Given the description of an element on the screen output the (x, y) to click on. 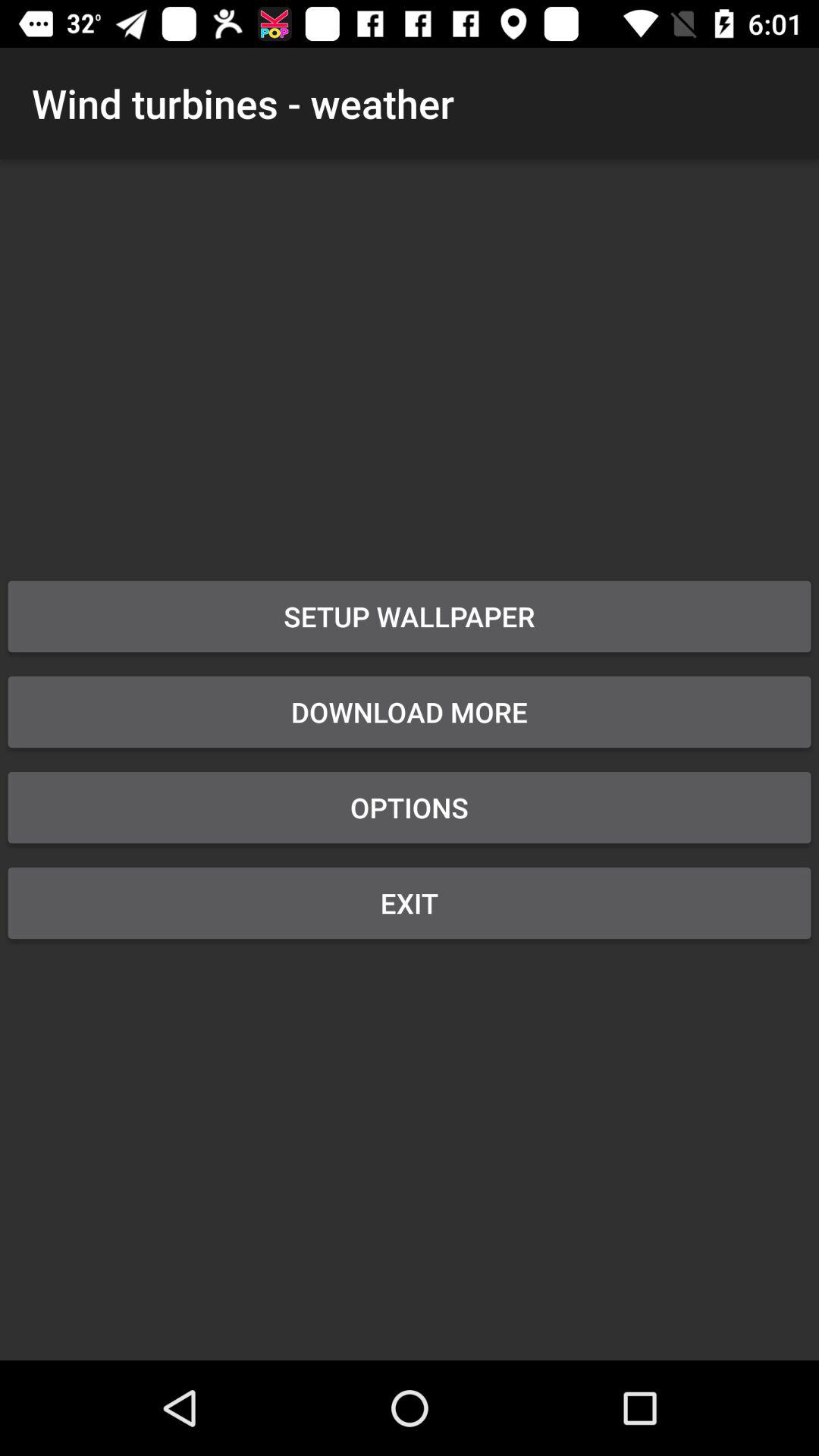
scroll until the download more button (409, 711)
